Given the description of an element on the screen output the (x, y) to click on. 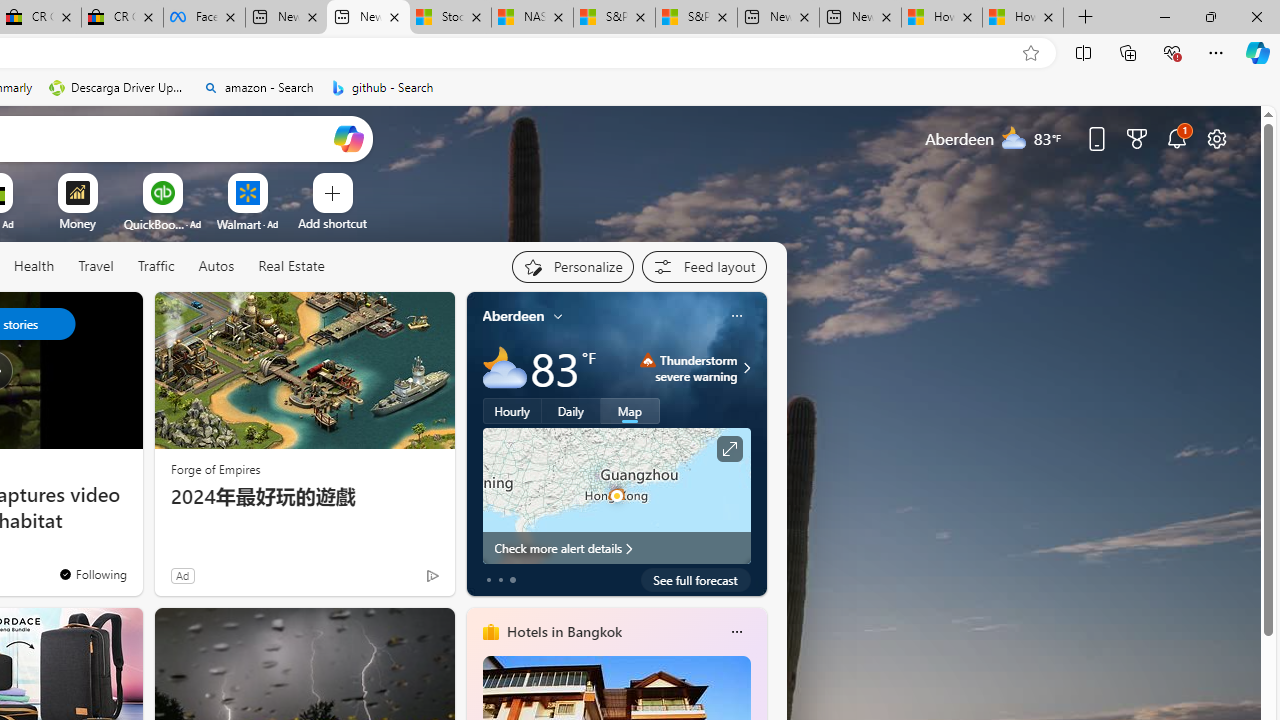
Travel (95, 265)
Health (34, 265)
Collections (1128, 52)
New tab (860, 17)
Open Copilot (347, 138)
More options (736, 631)
Feed settings (703, 266)
Check more alert details (616, 547)
Class: weather-arrow-glyph (746, 367)
Add this page to favorites (Ctrl+D) (1030, 53)
Aberdeen (513, 315)
Traffic (155, 265)
tab-1 (500, 579)
Close (1256, 16)
